Given the description of an element on the screen output the (x, y) to click on. 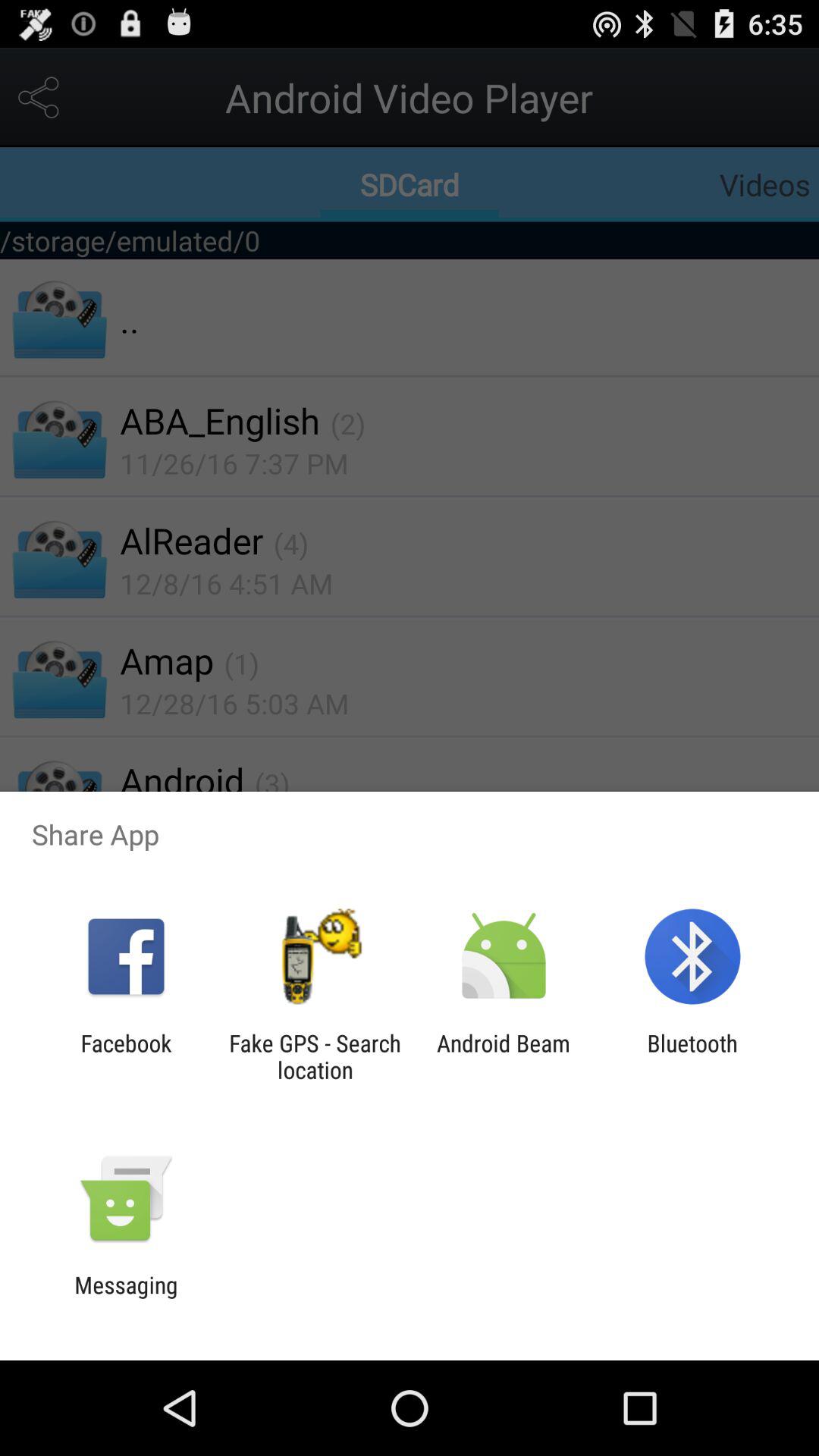
press the icon to the left of android beam app (314, 1056)
